Given the description of an element on the screen output the (x, y) to click on. 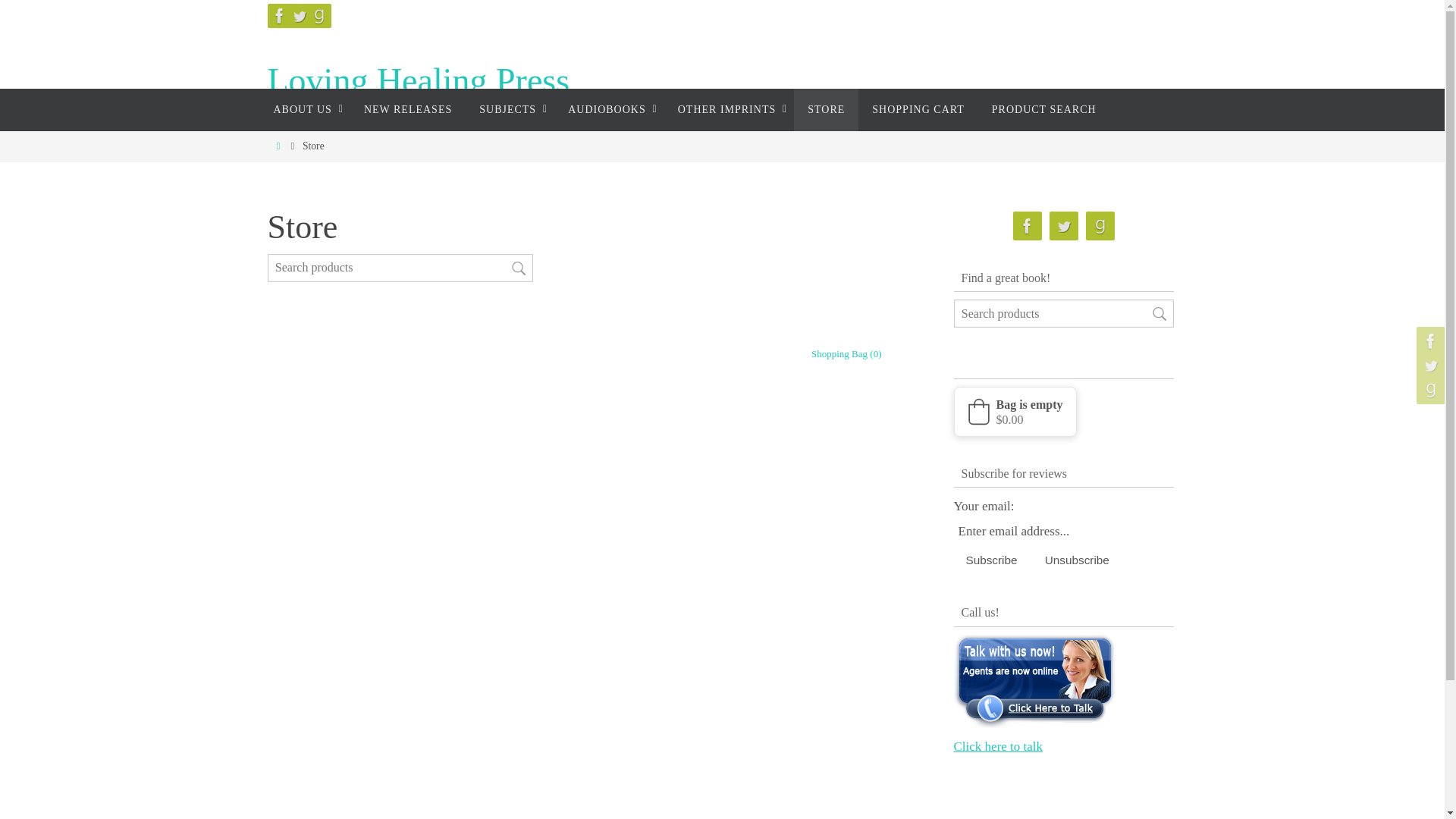
Loving Healing Press (417, 81)
Enter email address... (1037, 531)
SUBJECTS (509, 109)
Loving Healing Press (417, 81)
ABOUT US (304, 109)
GoodReads (1100, 225)
Facebook (278, 15)
Unsubscribe (1076, 560)
Twitter (298, 15)
GoodReads (317, 15)
